Given the description of an element on the screen output the (x, y) to click on. 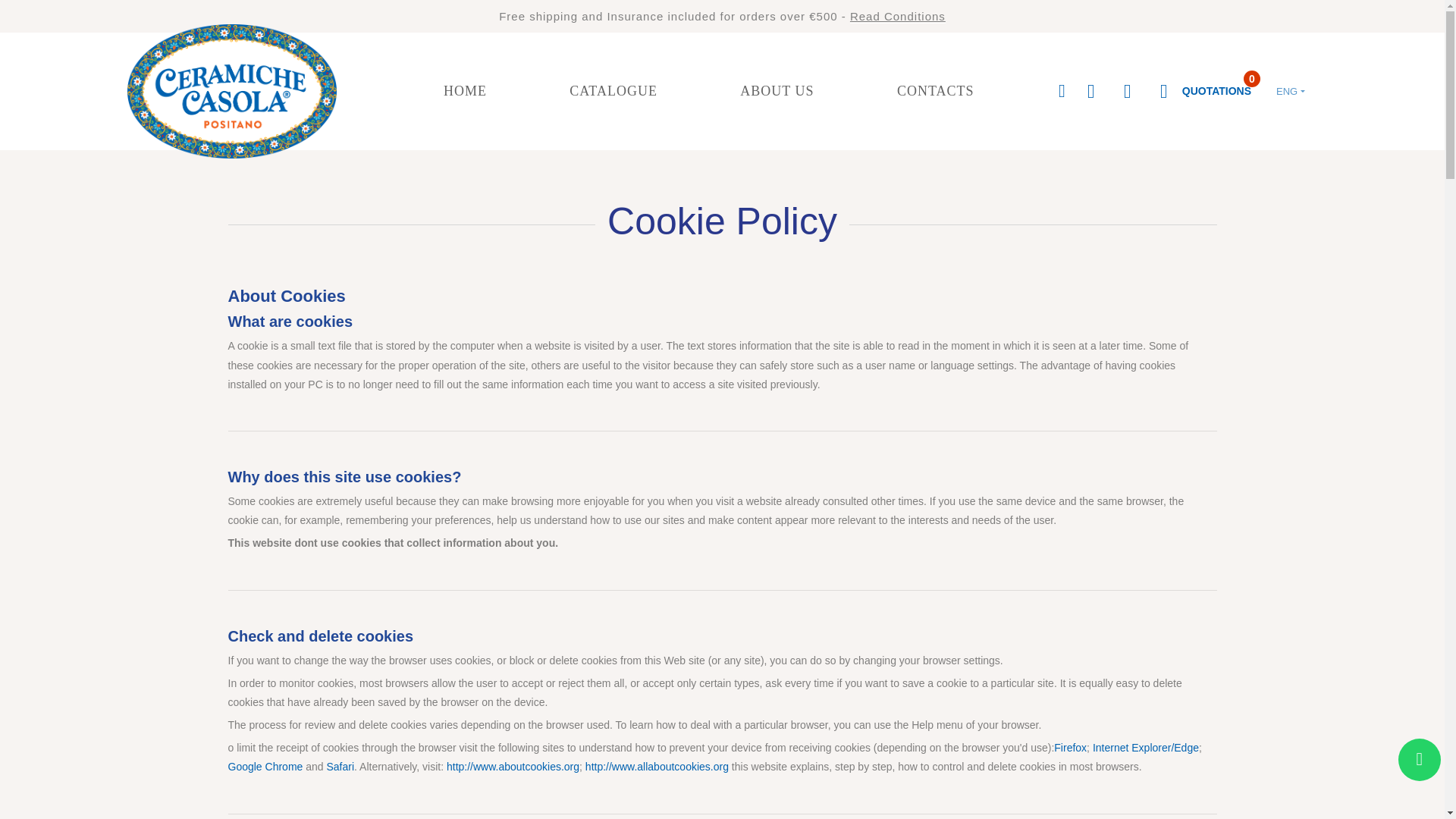
Google Chrome (264, 766)
HOME (465, 90)
Read Conditions (897, 15)
ENG (1290, 90)
CONTACTS (1197, 90)
Firefox (935, 90)
CATALOGUE (1070, 747)
ABOUT US (613, 90)
Safari (776, 90)
